Given the description of an element on the screen output the (x, y) to click on. 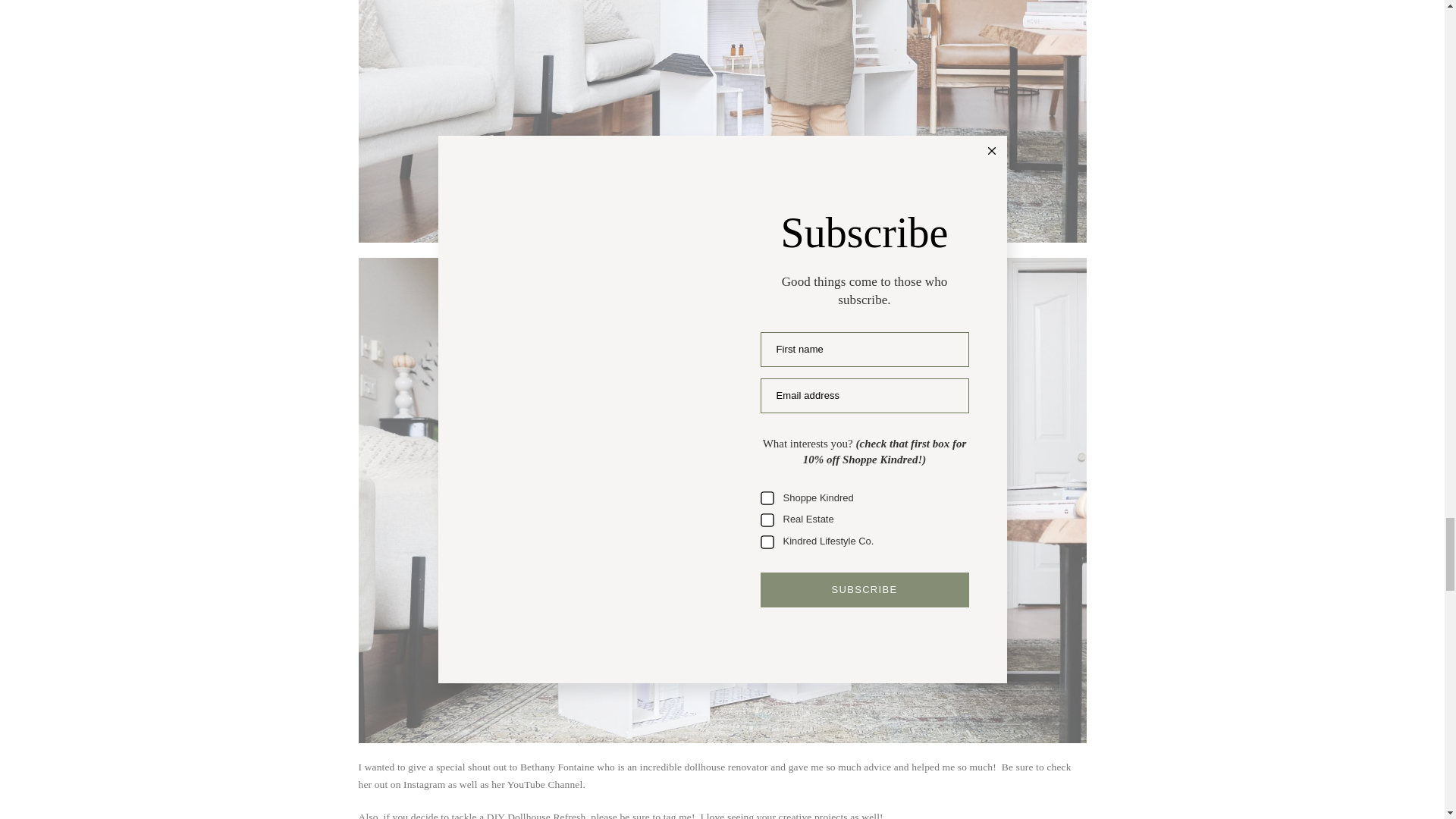
YouTube Channel (544, 784)
Bethany Fontaine (556, 767)
Instagram (424, 784)
